Given the description of an element on the screen output the (x, y) to click on. 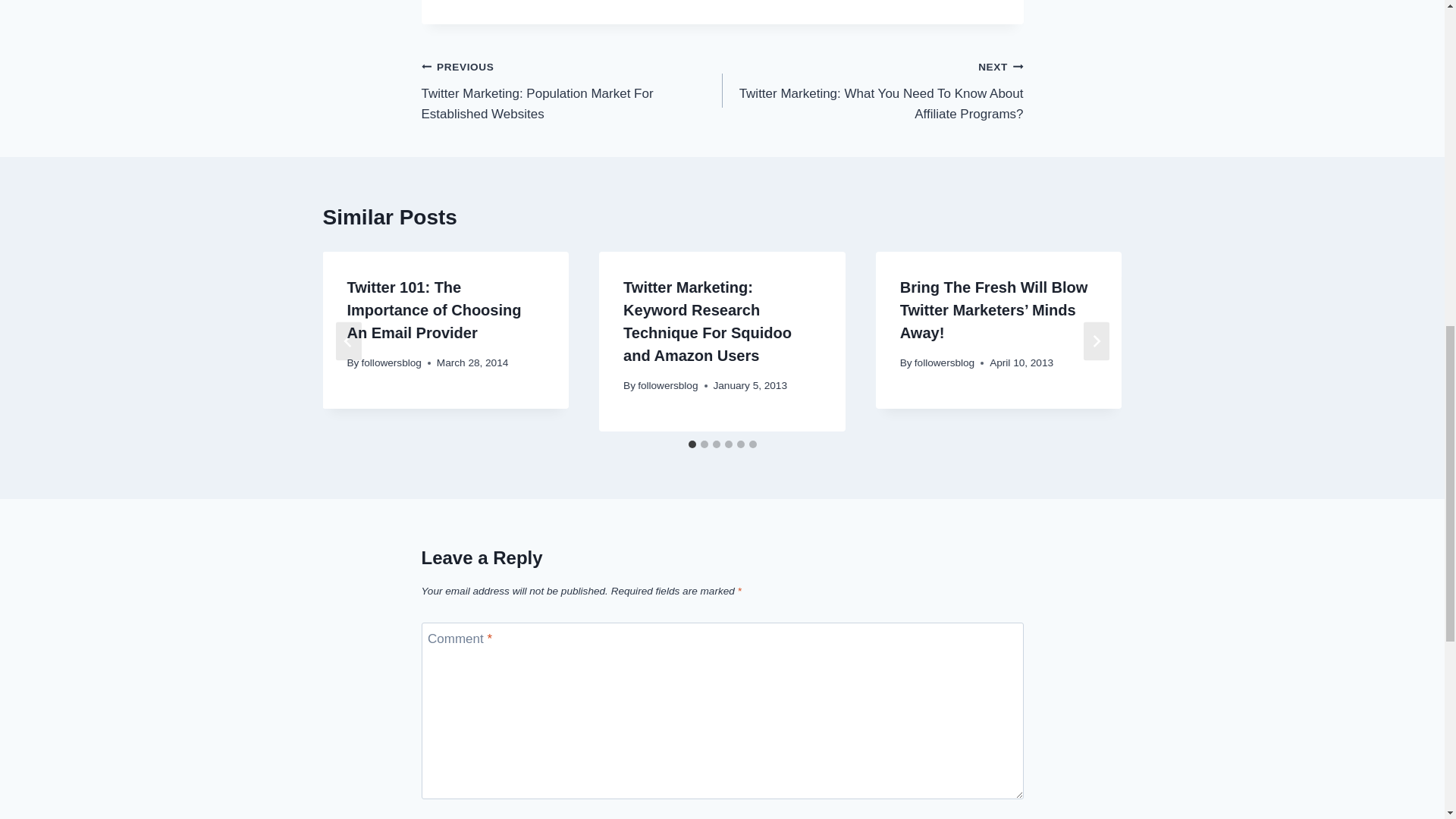
followersblog (391, 362)
Twitter 101: The Importance of Choosing An Email Provider (433, 310)
